Given the description of an element on the screen output the (x, y) to click on. 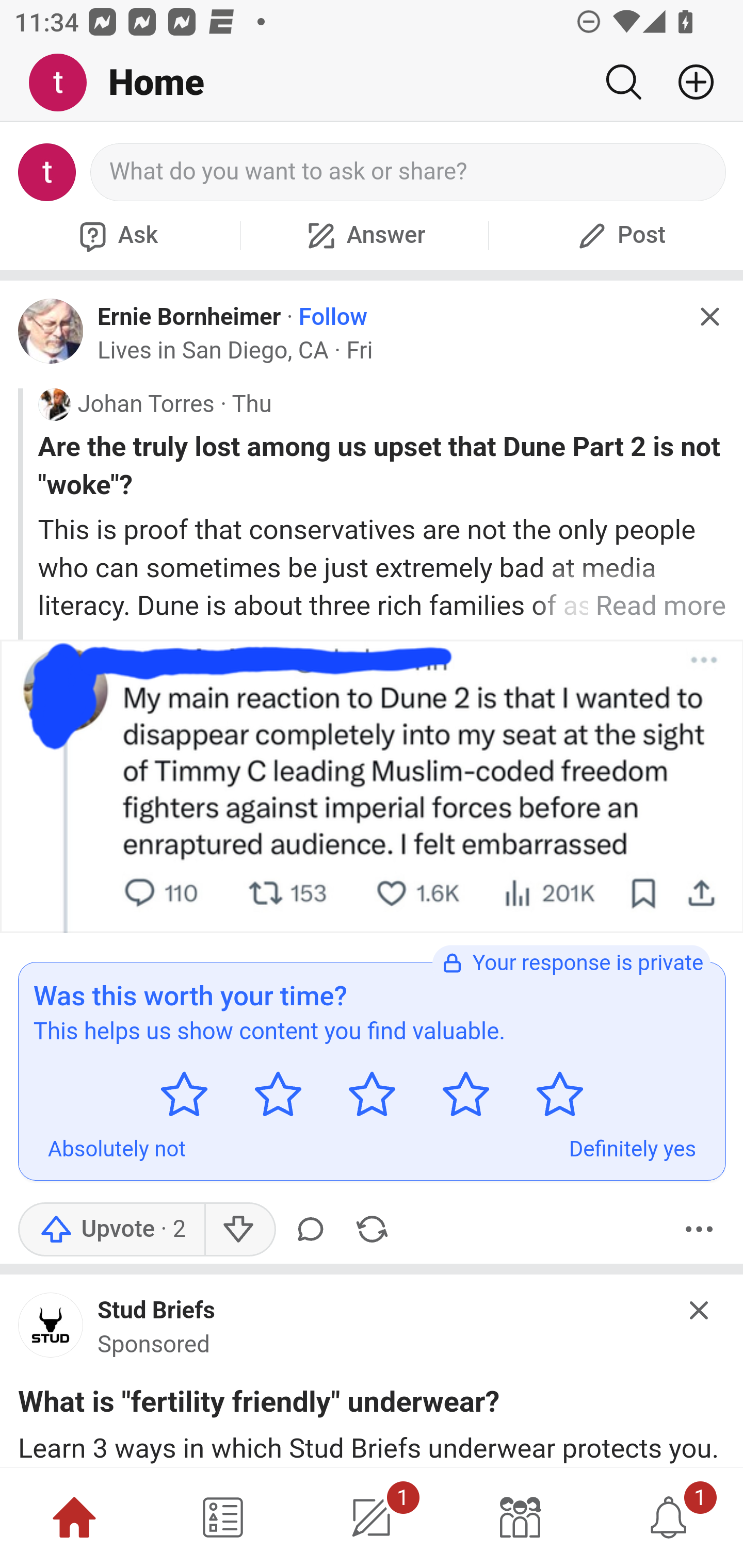
Me (64, 83)
Search (623, 82)
Add (688, 82)
What do you want to ask or share? (408, 172)
Ask (116, 234)
Answer (364, 234)
Post (618, 234)
Hide (709, 316)
Profile photo for Ernie Bornheimer (50, 330)
Ernie Bornheimer (189, 316)
Follow (332, 316)
Profile photo for Johan Torres (54, 404)
Upvote (111, 1229)
Downvote (238, 1229)
Comment (313, 1229)
Share (372, 1229)
More (699, 1229)
Hide (699, 1309)
main-qimg-f203deb7121183c78e5088192cee230f (50, 1330)
Stud Briefs (156, 1310)
Sponsored (154, 1344)
What is "fertility friendly" underwear? (258, 1405)
1 (371, 1517)
1 (668, 1517)
